Given the description of an element on the screen output the (x, y) to click on. 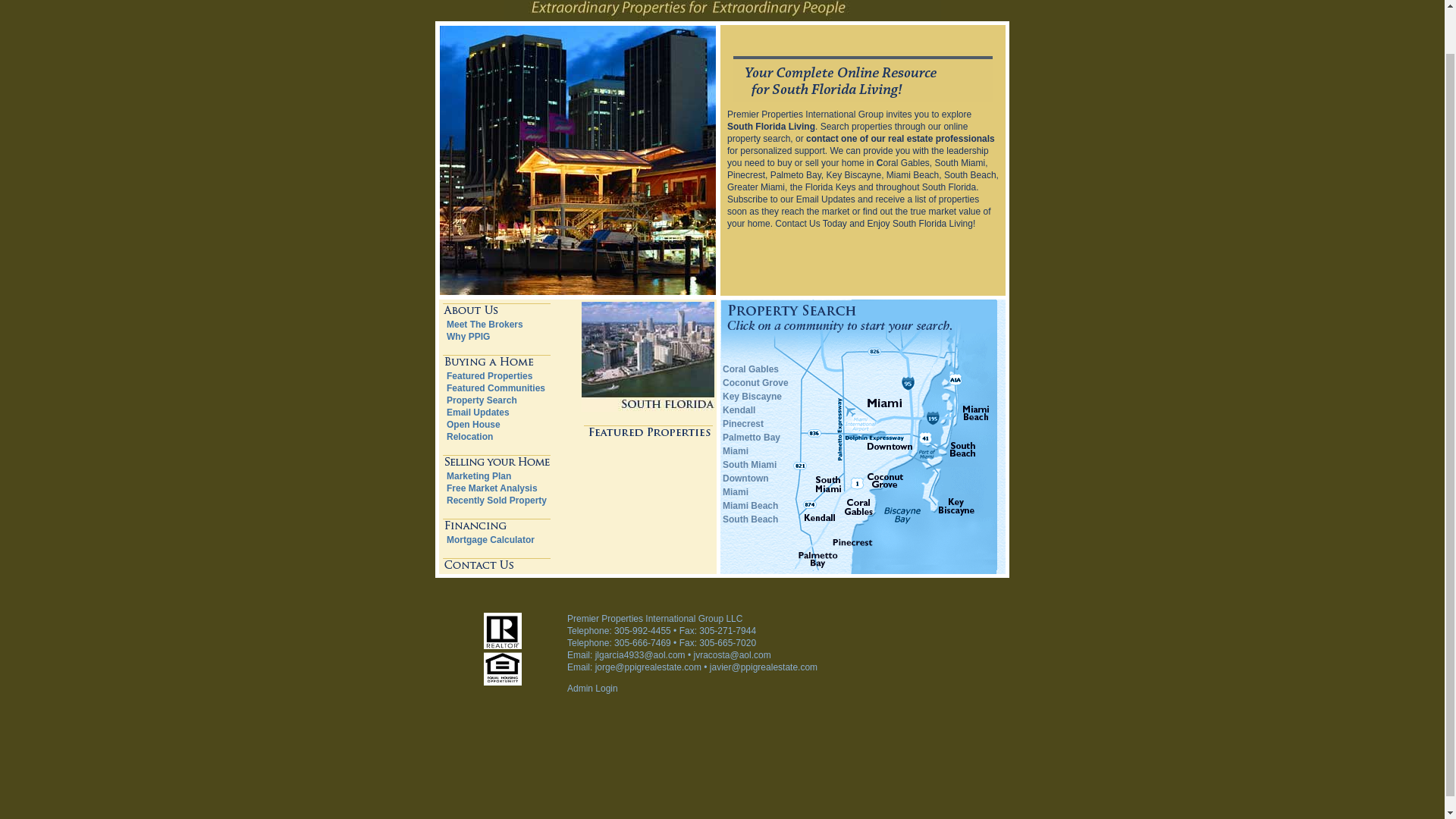
Coconut Grove (755, 382)
Property Search (481, 399)
Free Market Analysis (491, 488)
Pinecrest (742, 423)
Recently Sold Property (496, 500)
Email Updates (477, 412)
Palmetto Bay (751, 437)
South Miami (749, 464)
South Florida Living (770, 126)
Key Biscayne (751, 396)
Marketing Plan (478, 475)
Meet The Brokers (484, 324)
Downtown Miami (745, 485)
South Beach (749, 519)
Miami (735, 450)
